Given the description of an element on the screen output the (x, y) to click on. 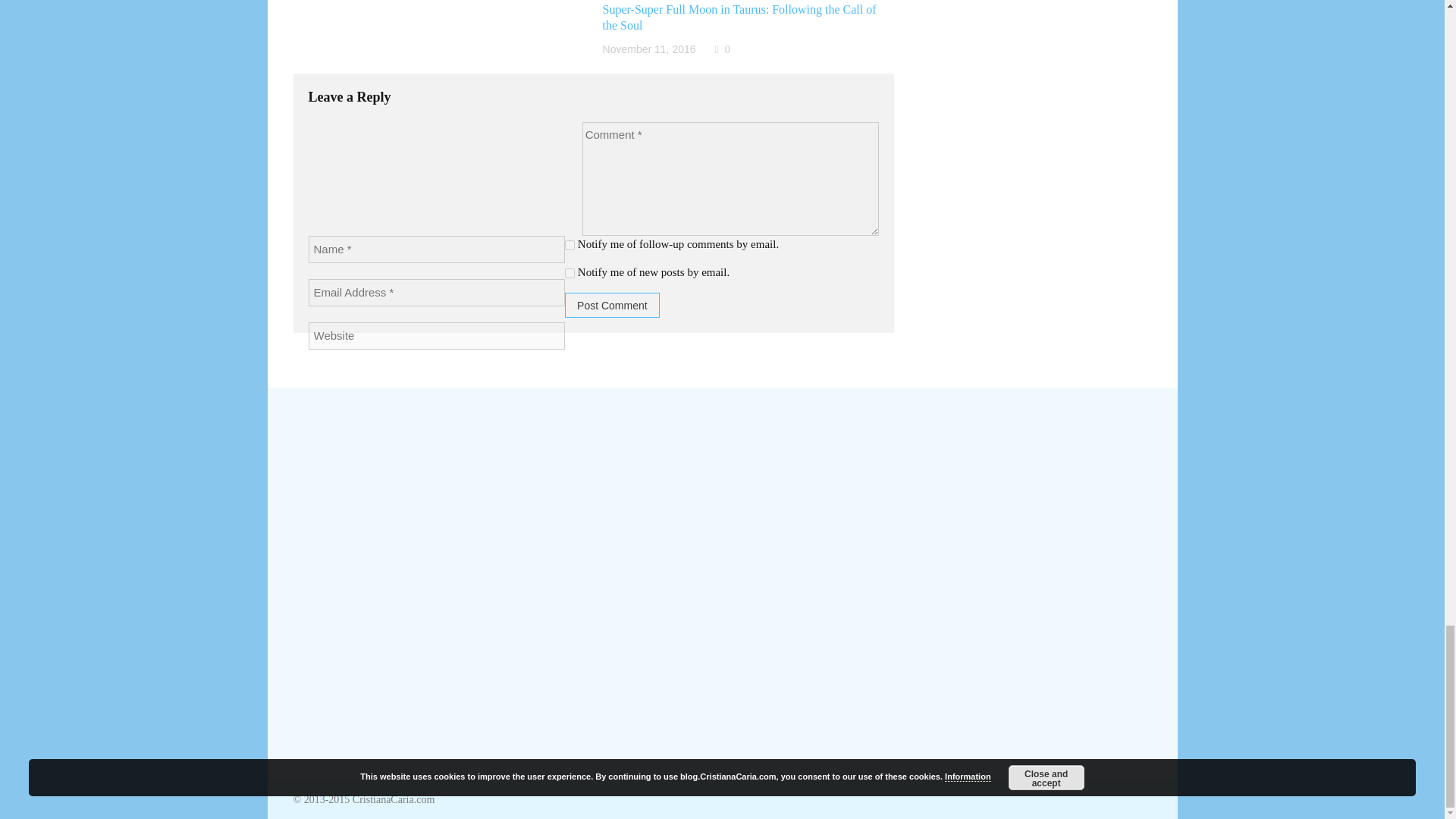
Post Comment (611, 304)
subscribe (569, 273)
subscribe (569, 245)
